Given the description of an element on the screen output the (x, y) to click on. 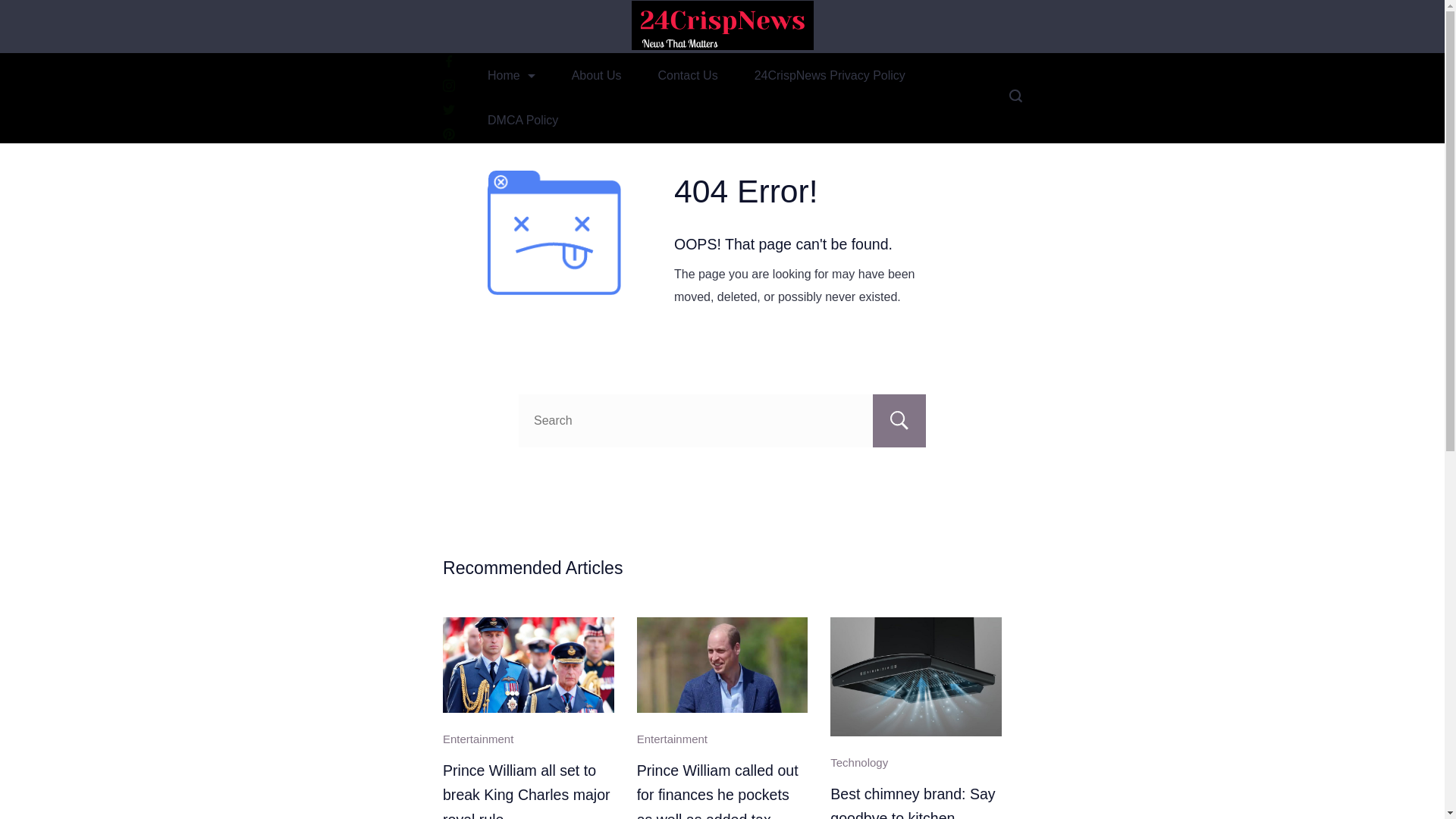
24CrispNews Privacy Policy (829, 75)
Search (899, 420)
Search (899, 420)
About Us (596, 75)
Search Input (722, 420)
Contact Us (688, 75)
Home (510, 75)
DMCA Policy (522, 119)
